Given the description of an element on the screen output the (x, y) to click on. 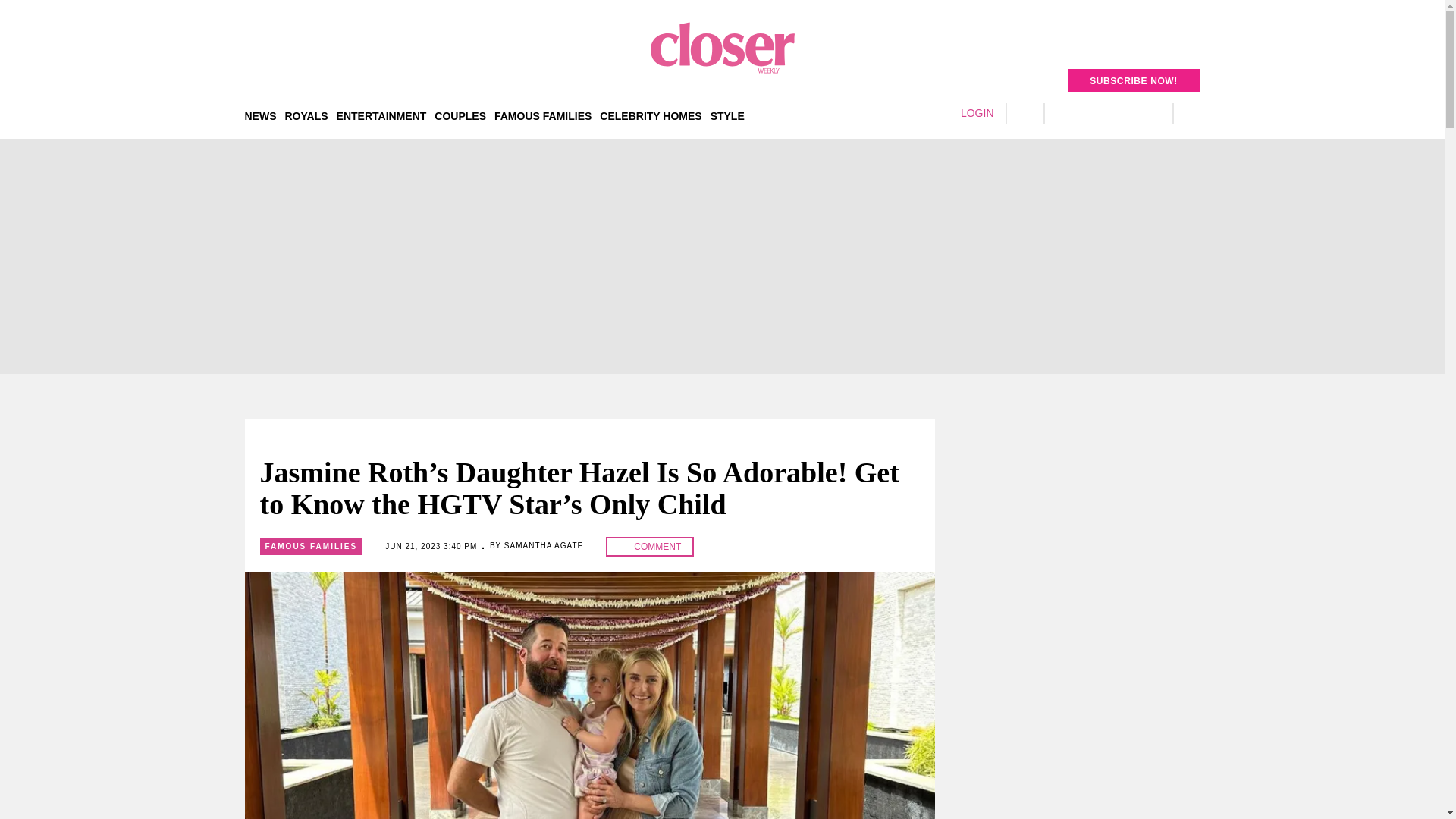
NEWS (260, 115)
ENTERTAINMENT (381, 115)
ROYALS (307, 115)
Posts by Samantha Agate (543, 545)
